Given the description of an element on the screen output the (x, y) to click on. 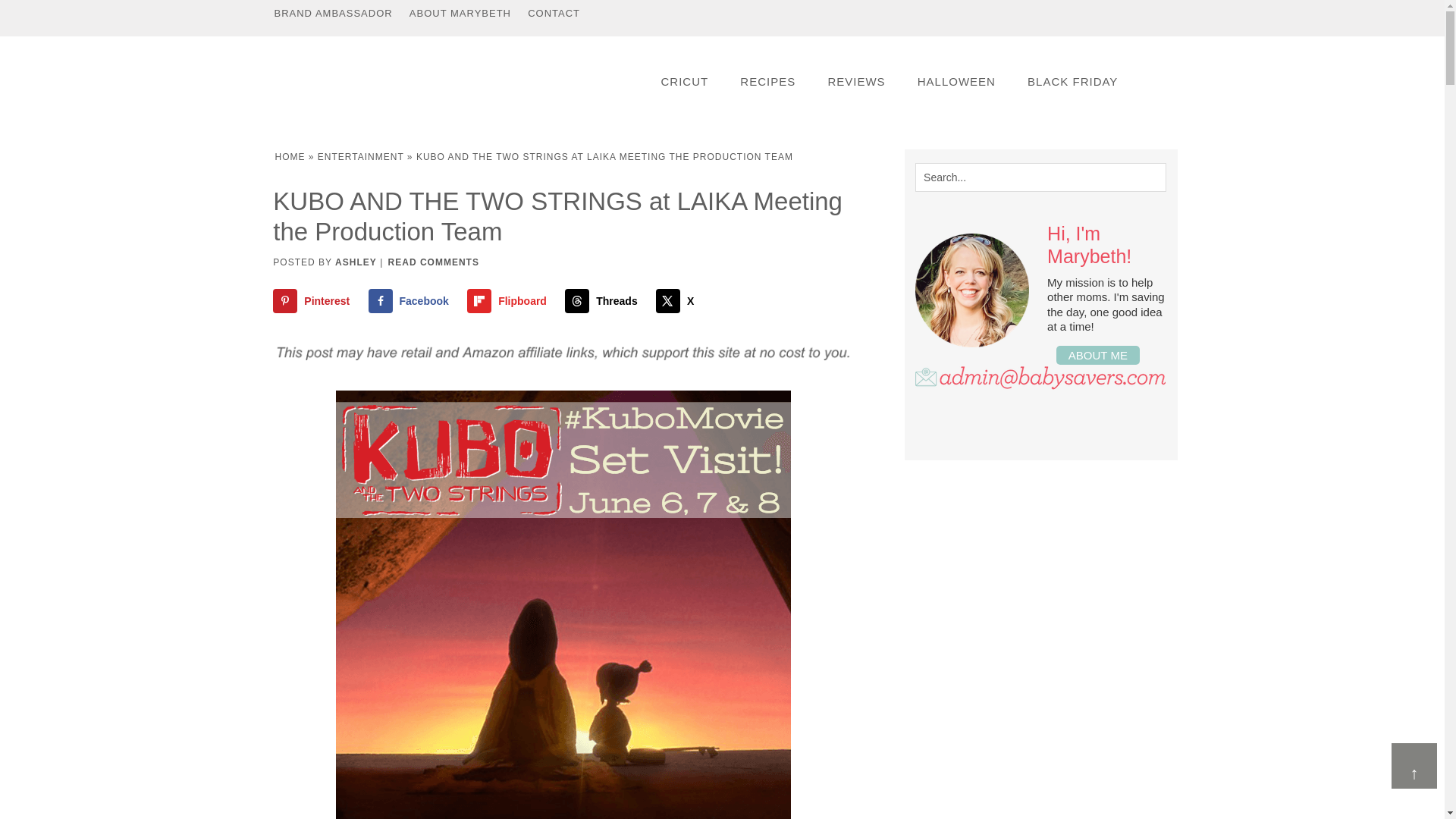
ASHLEY (355, 262)
Share on Flipboard (510, 300)
HOME (289, 156)
HALLOWEEN (956, 81)
READ COMMENTS (433, 262)
Facebook (411, 300)
RECIPES (767, 81)
BLACK FRIDAY (1072, 81)
Share on Threads (603, 300)
Save to Pinterest (314, 300)
CRICUT (684, 81)
BRAND AMBASSADOR (332, 13)
REVIEWS (855, 81)
ABOUT MARYBETH (460, 13)
CONTACT (553, 13)
